Given the description of an element on the screen output the (x, y) to click on. 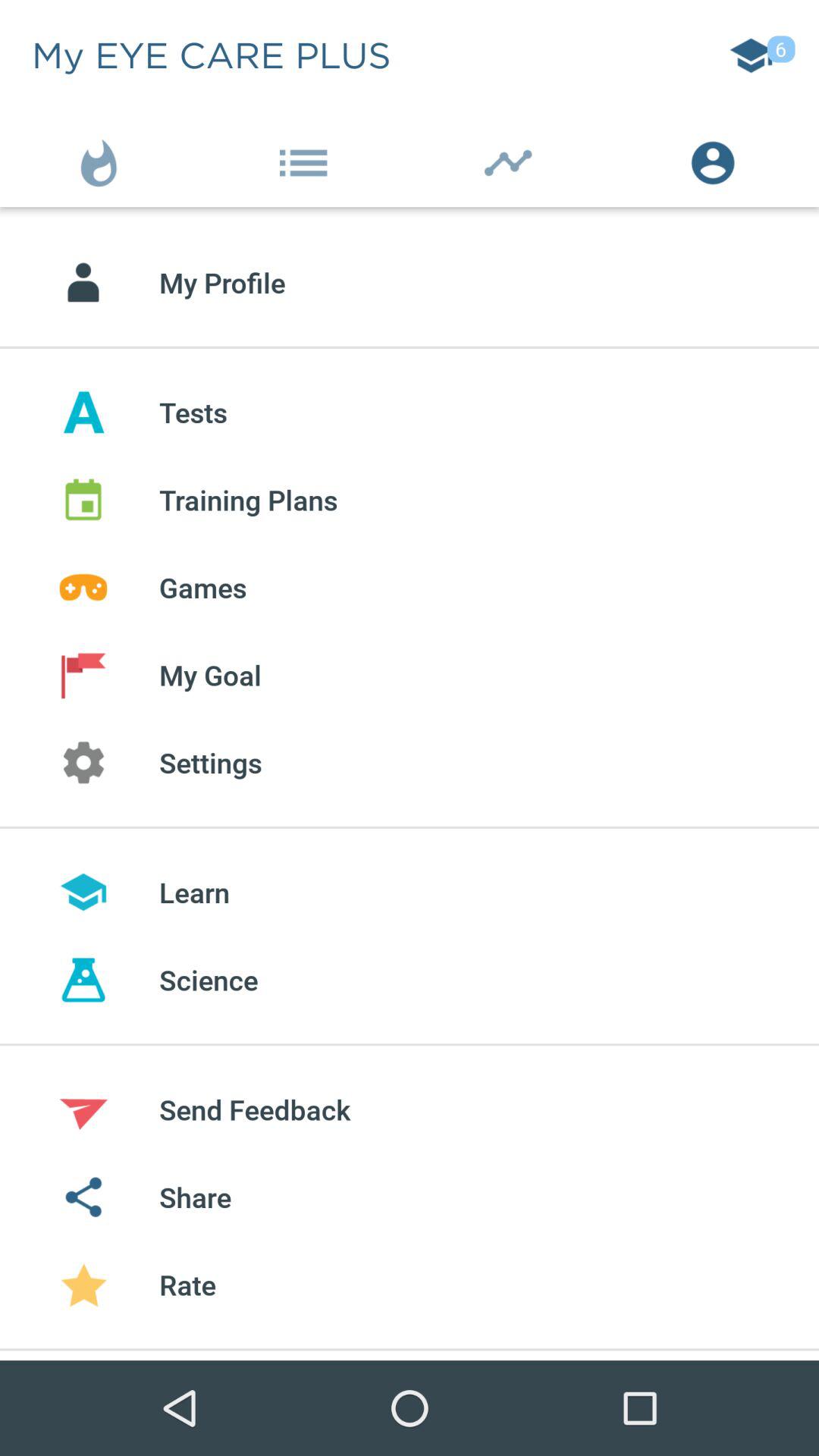
turn off the    icon (102, 159)
